Given the description of an element on the screen output the (x, y) to click on. 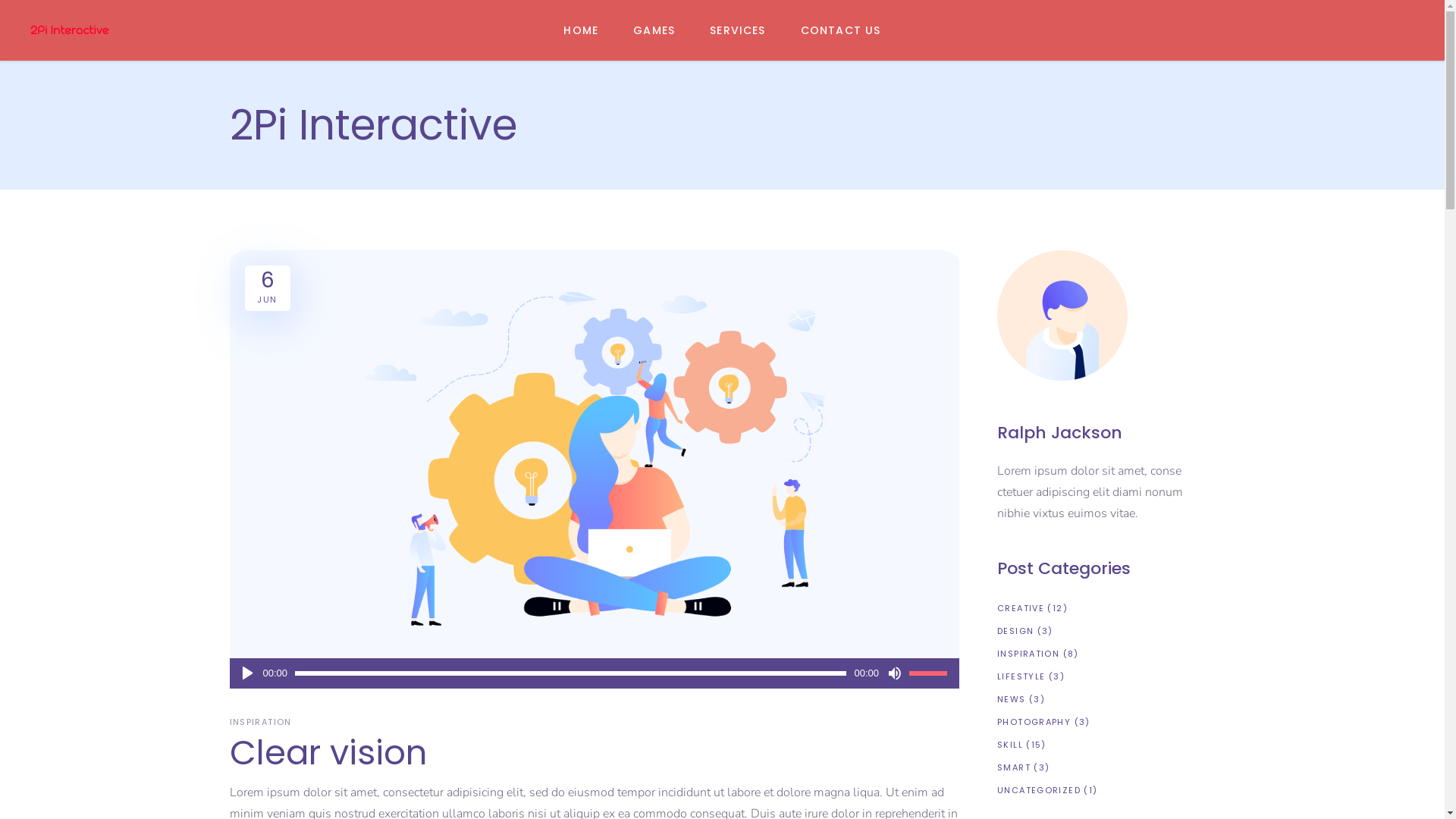
GAMES Element type: text (653, 30)
SMART Element type: text (1013, 767)
CONTACT US Element type: text (840, 30)
INSPIRATION Element type: text (1028, 653)
Play Element type: hover (247, 673)
PHOTOGRAPHY Element type: text (1033, 721)
6
JUN Element type: text (266, 284)
HOME Element type: text (580, 30)
SKILL Element type: text (1009, 744)
NEWS Element type: text (1011, 699)
CREATIVE Element type: text (1020, 608)
Use Up/Down Arrow keys to increase or decrease volume. Element type: text (930, 673)
UNCATEGORIZED Element type: text (1038, 790)
DESIGN Element type: text (1015, 630)
LIFESTYLE Element type: text (1020, 676)
Mute Element type: hover (893, 673)
INSPIRATION Element type: text (261, 721)
SERVICES Element type: text (737, 30)
